Given the description of an element on the screen output the (x, y) to click on. 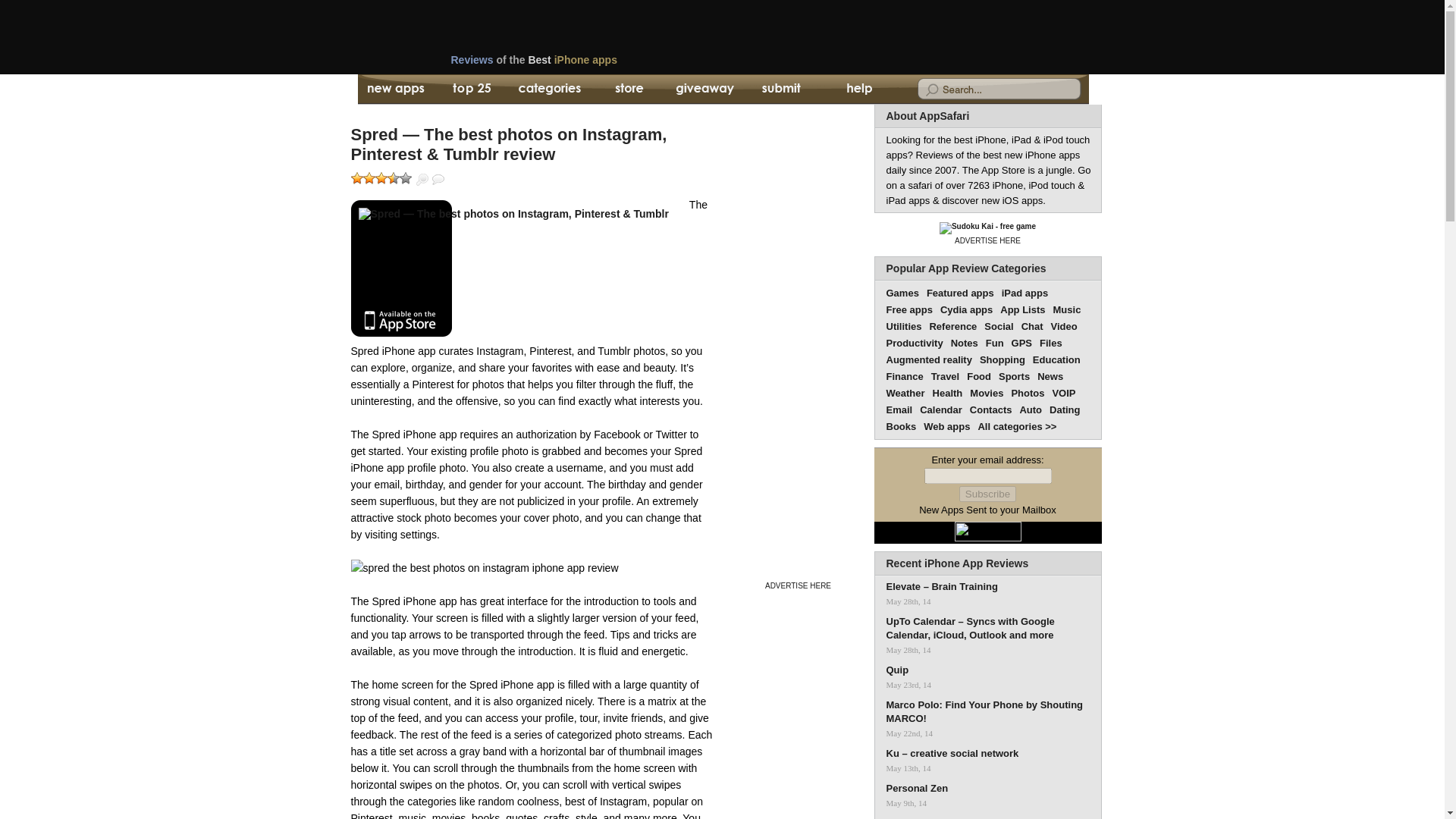
Subscribe (987, 494)
ADVERTISE HERE (797, 585)
Reviews of the Best iPhone apps (588, 64)
User Reviews (438, 179)
Help with using iPhone Apps (858, 89)
Poor (368, 177)
Top 25 Rated iPhone Apps (471, 89)
Submit (781, 89)
New App Reviews (394, 89)
Categories (549, 89)
